Given the description of an element on the screen output the (x, y) to click on. 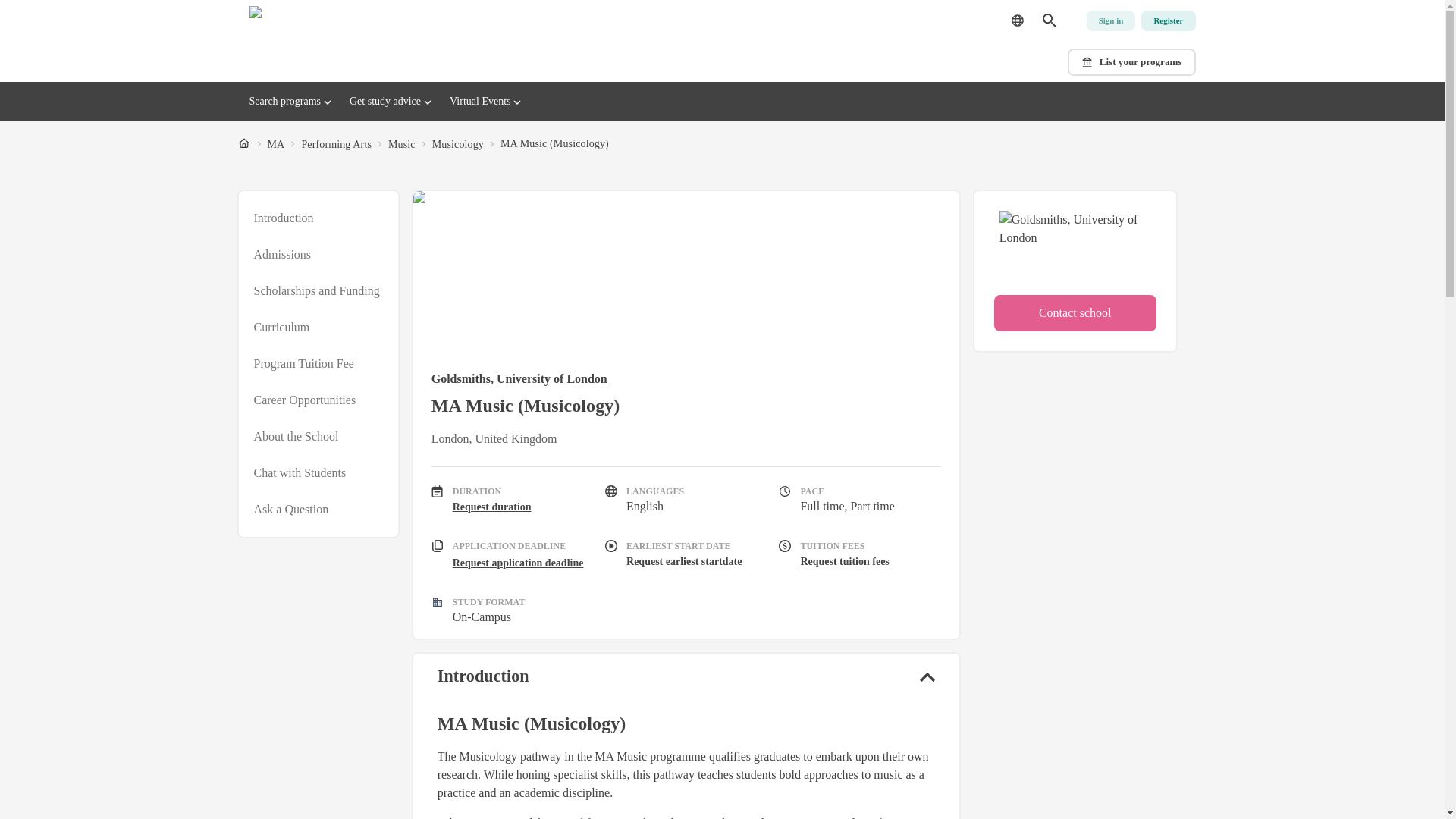
About the School (295, 436)
List your programs (1131, 62)
Introduction (283, 218)
MA (274, 144)
Curriculum (280, 327)
Register (1168, 20)
Ask a Question (291, 509)
Chat with Students (299, 473)
Scholarships and Funding (315, 290)
